Given the description of an element on the screen output the (x, y) to click on. 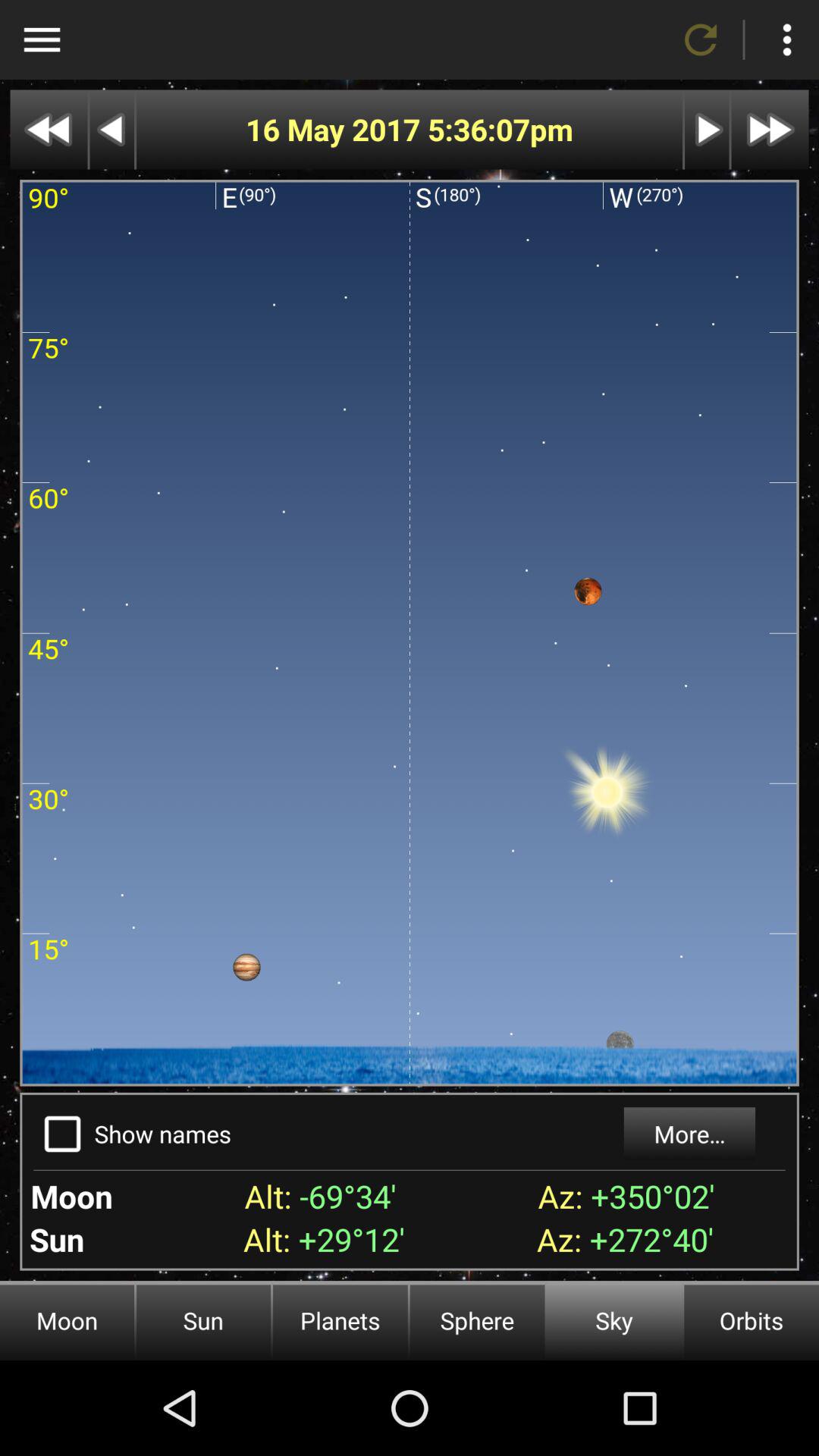
fast forward (769, 129)
